Given the description of an element on the screen output the (x, y) to click on. 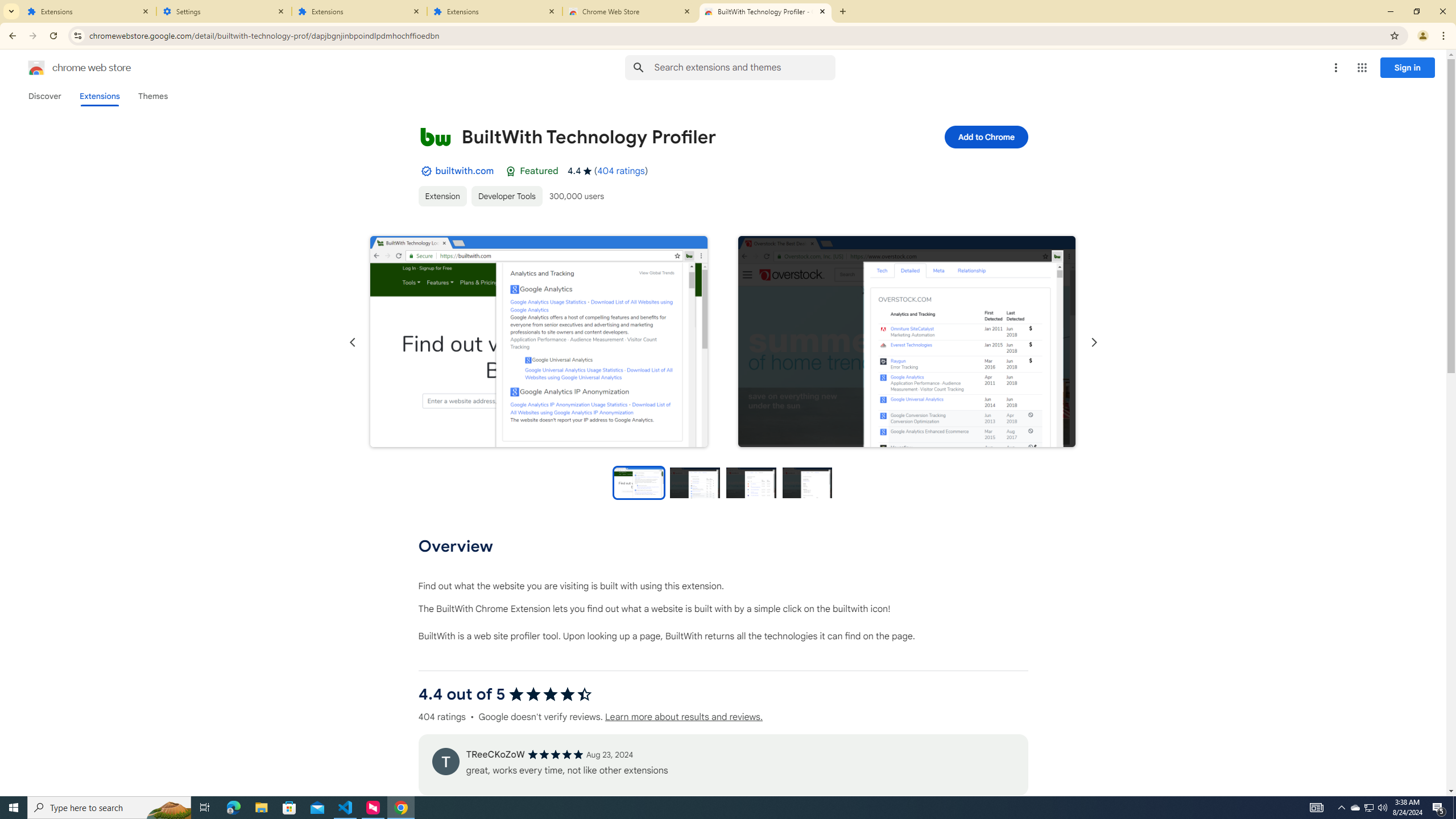
Preview slide 4 (807, 482)
BuiltWith Technology Profiler - Chrome Web Store (765, 11)
Extension (442, 195)
Chrome Web Store logo chrome web store (67, 67)
Add to Chrome (985, 136)
Item media 2 screenshot (906, 341)
Extensions (88, 11)
Preview slide 2 (694, 482)
